Given the description of an element on the screen output the (x, y) to click on. 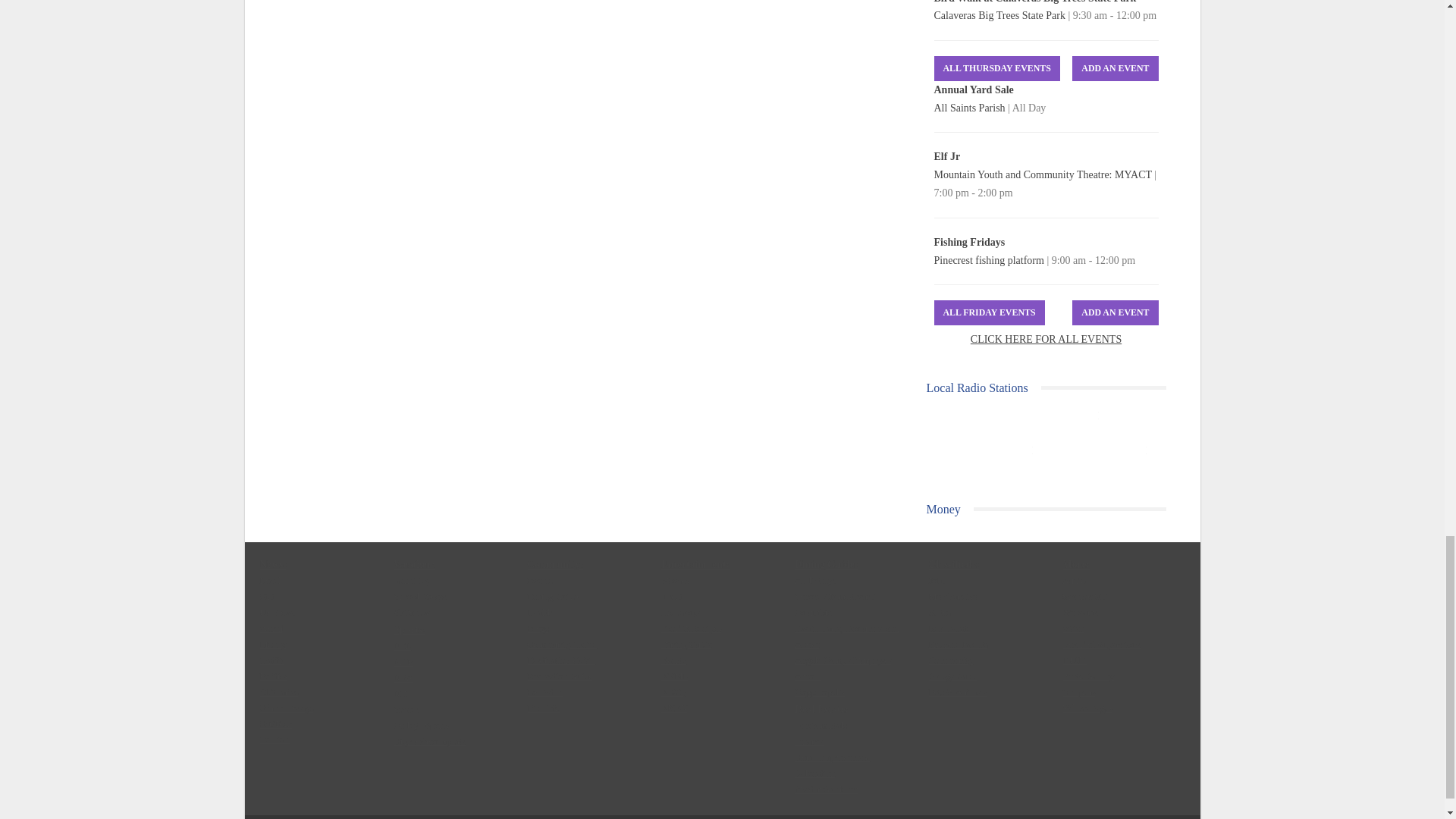
Add An Event (1114, 68)
All Friday Events (989, 312)
Add An Event (1114, 312)
All Thursday Events (996, 68)
